Given the description of an element on the screen output the (x, y) to click on. 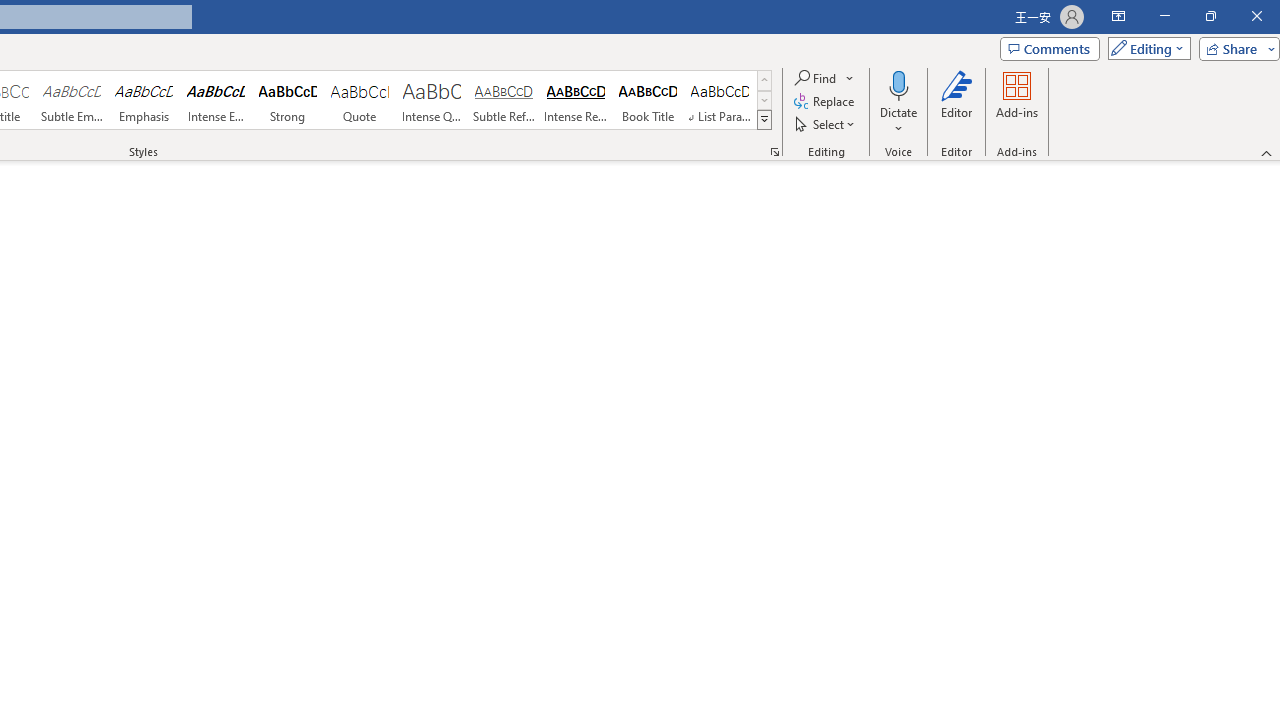
Subtle Emphasis (71, 100)
